Given the description of an element on the screen output the (x, y) to click on. 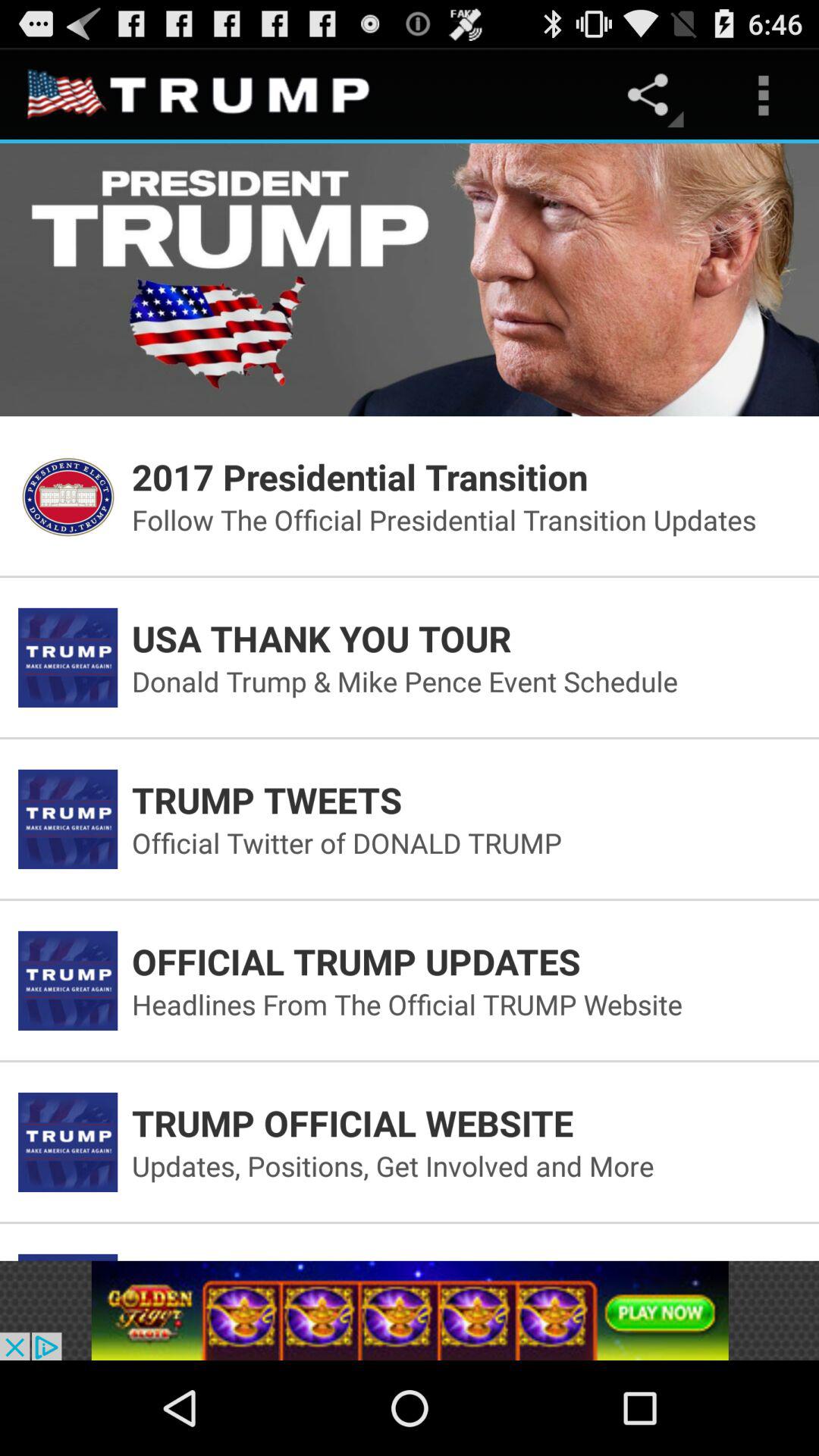
sponsor advertisement for a casino game (409, 1310)
